Given the description of an element on the screen output the (x, y) to click on. 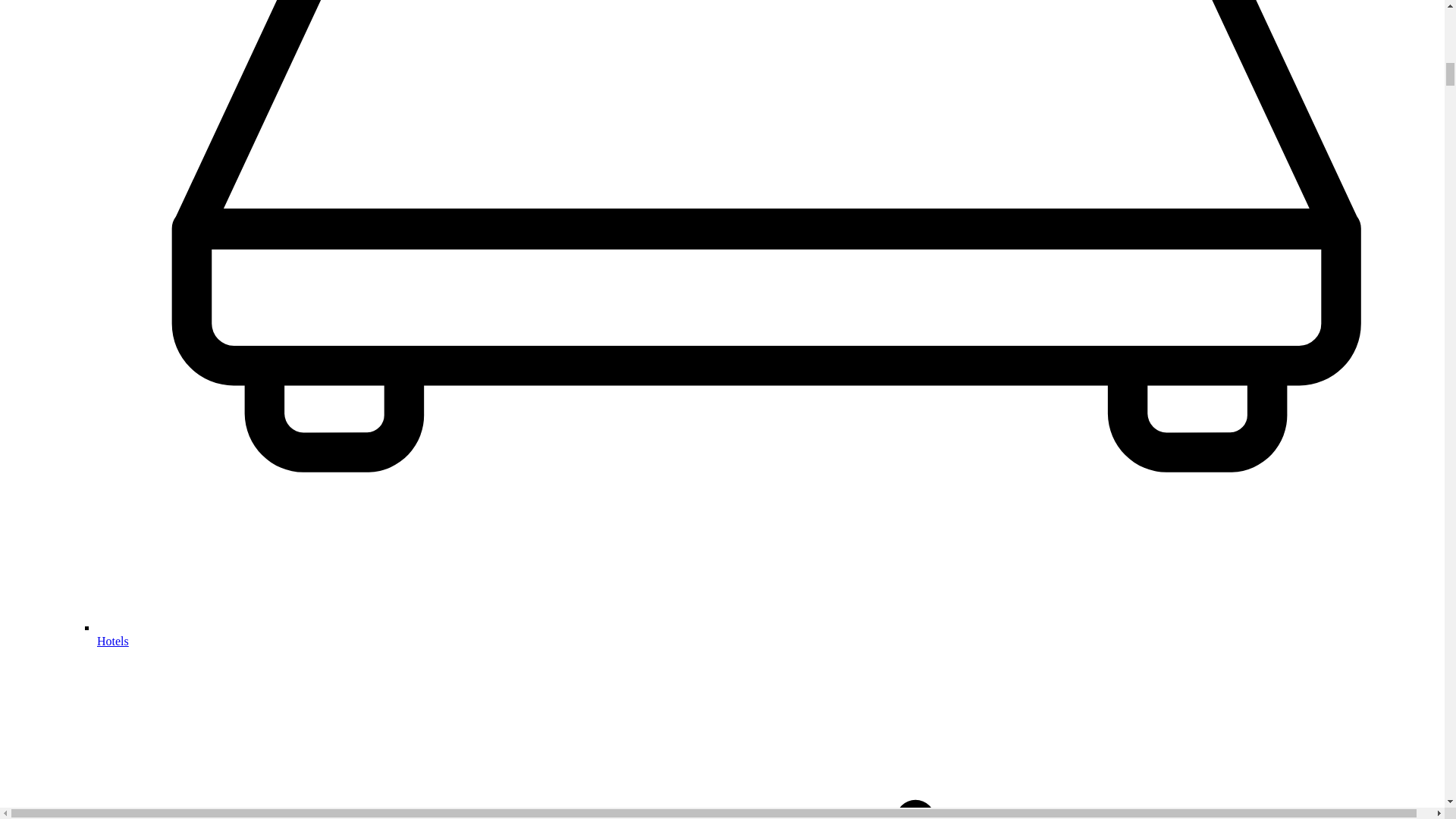
Hotels (113, 640)
